Given the description of an element on the screen output the (x, y) to click on. 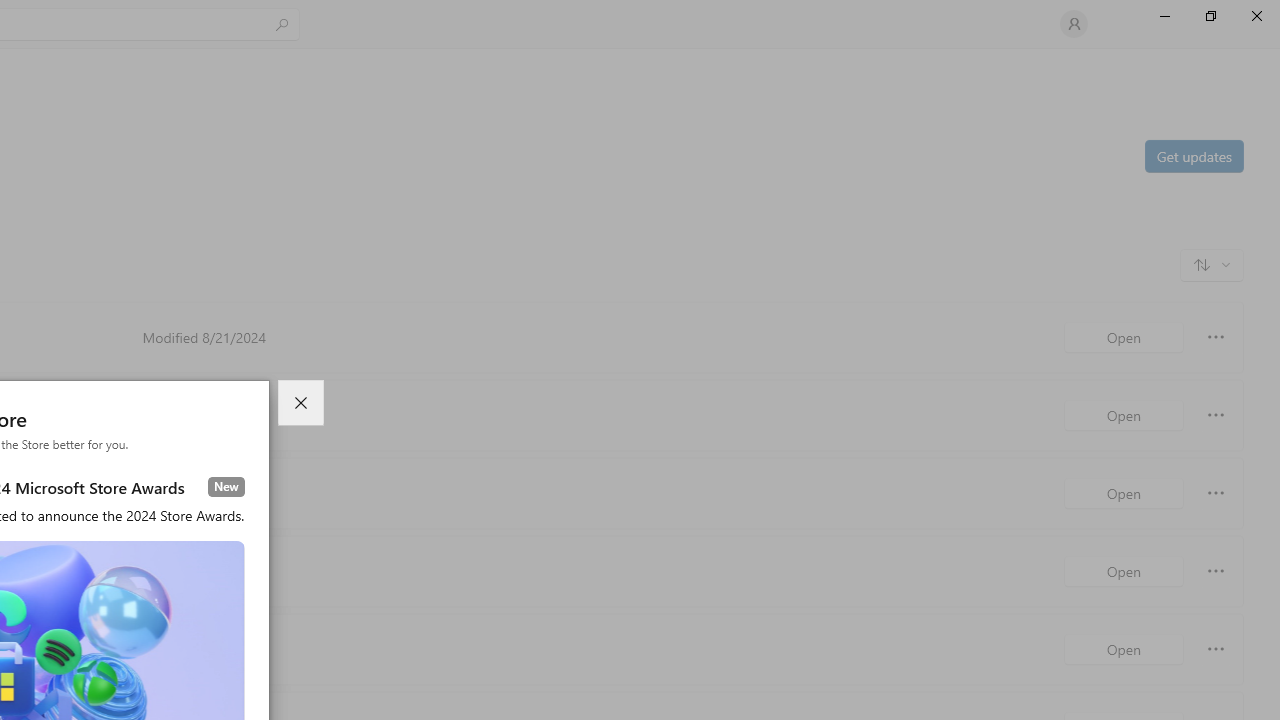
More options (1215, 648)
Get updates (1193, 155)
Close Microsoft Store (1256, 15)
Close dialog (300, 403)
Restore Microsoft Store (1210, 15)
Open (1123, 648)
Sort and filter (1212, 263)
User profile (1073, 24)
Minimize Microsoft Store (1164, 15)
